Given the description of an element on the screen output the (x, y) to click on. 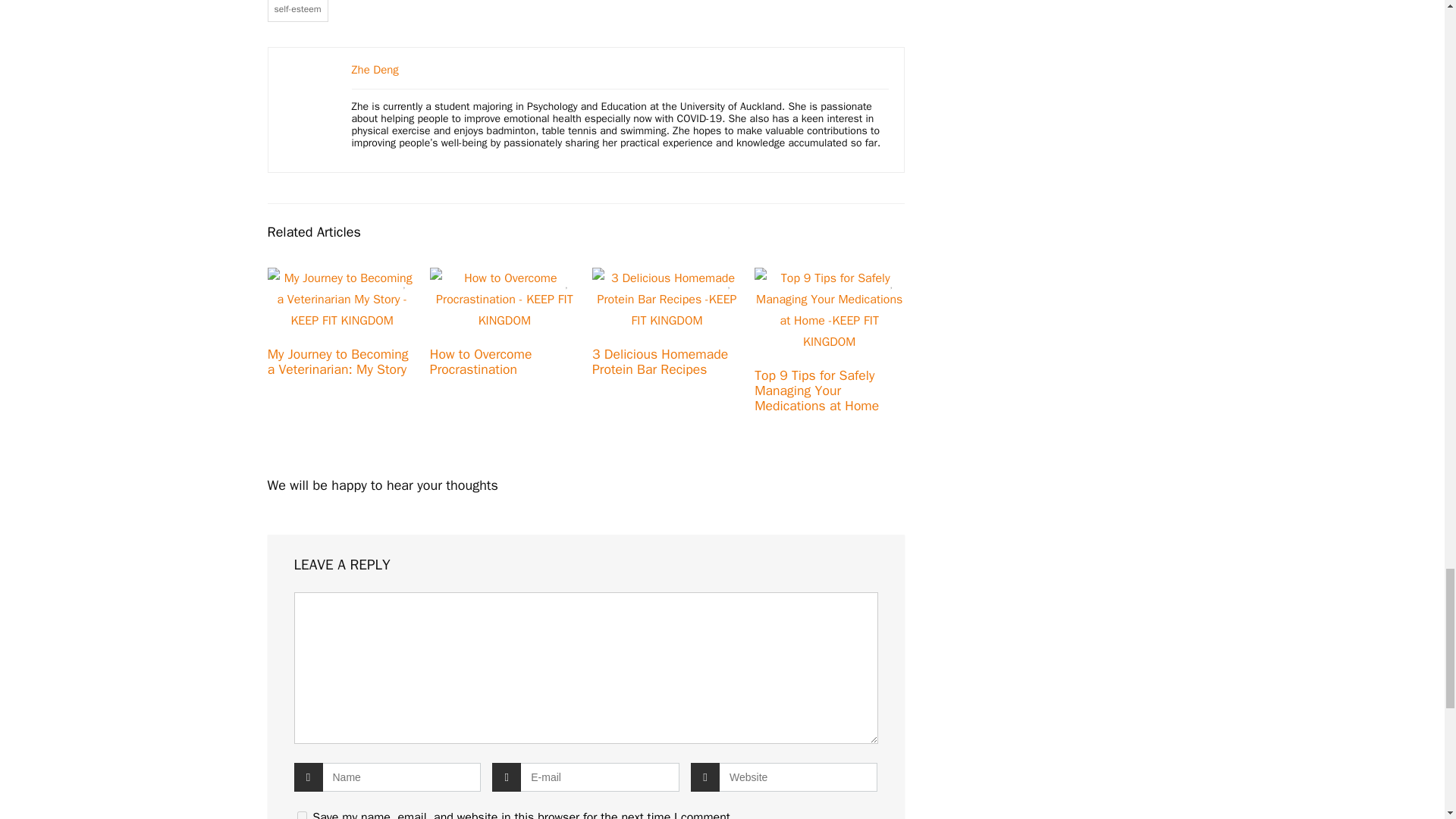
yes (302, 815)
